Given the description of an element on the screen output the (x, y) to click on. 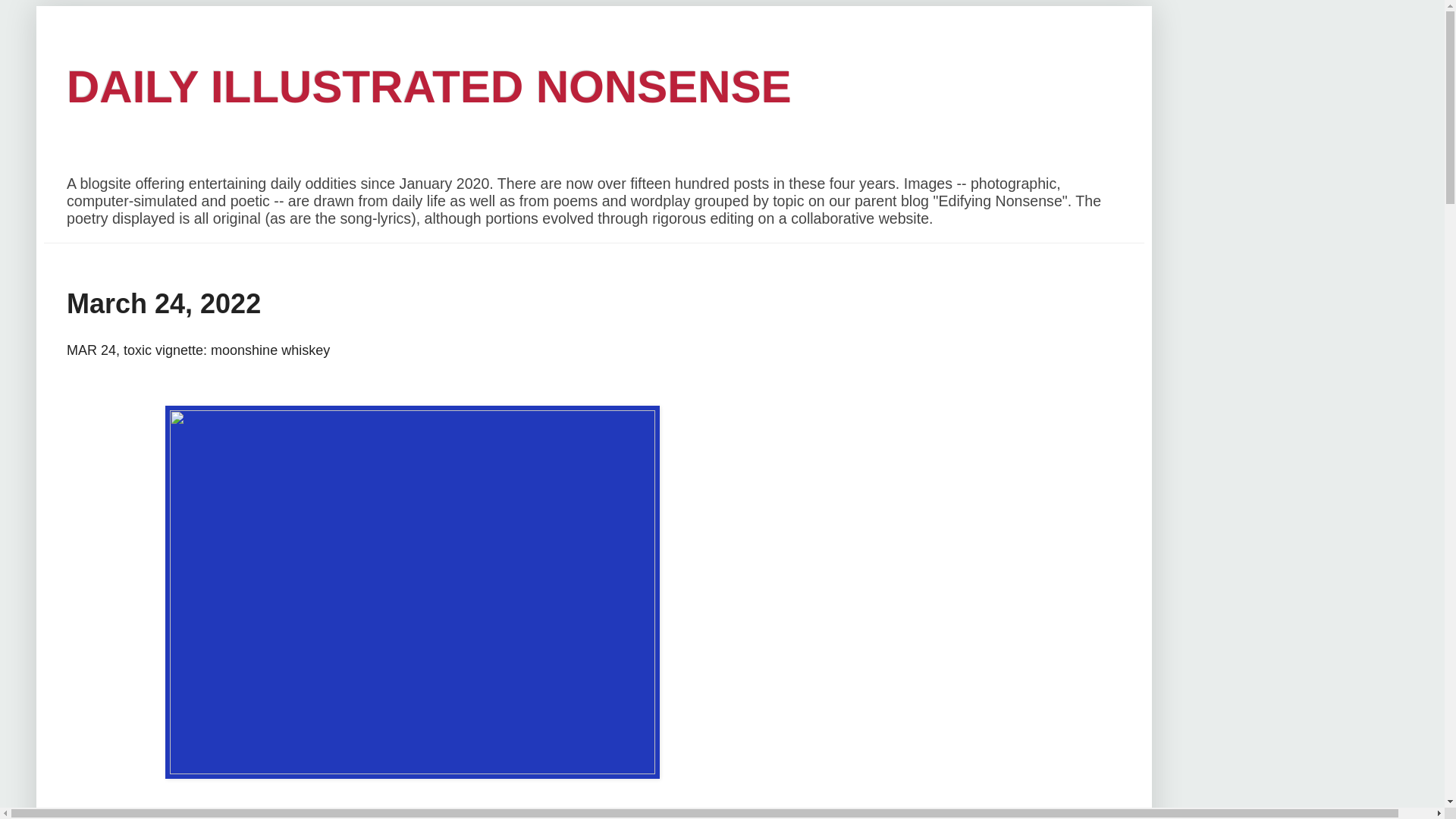
DAILY ILLUSTRATED NONSENSE (429, 86)
